Given the description of an element on the screen output the (x, y) to click on. 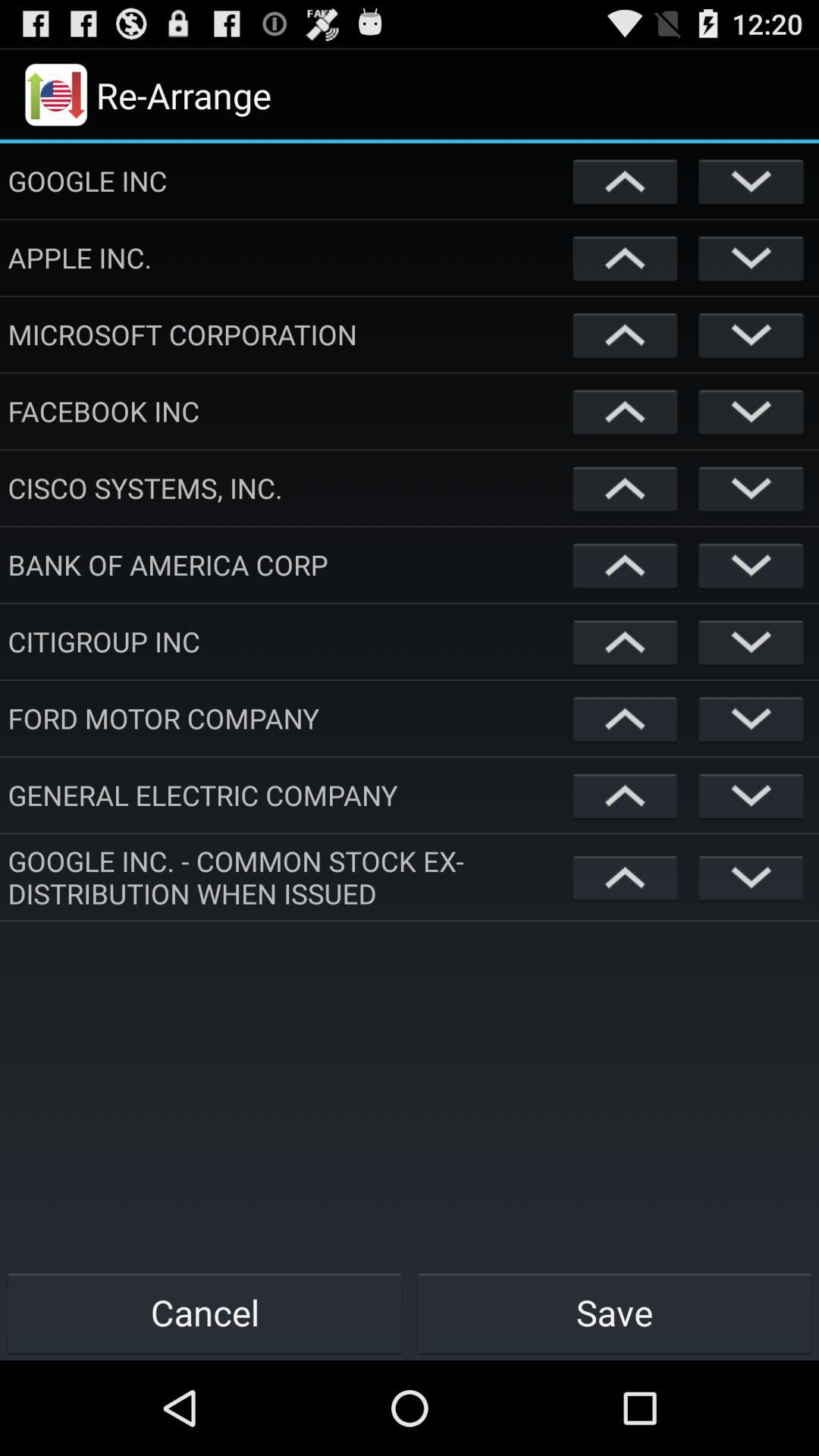
launch cancel (204, 1312)
